Given the description of an element on the screen output the (x, y) to click on. 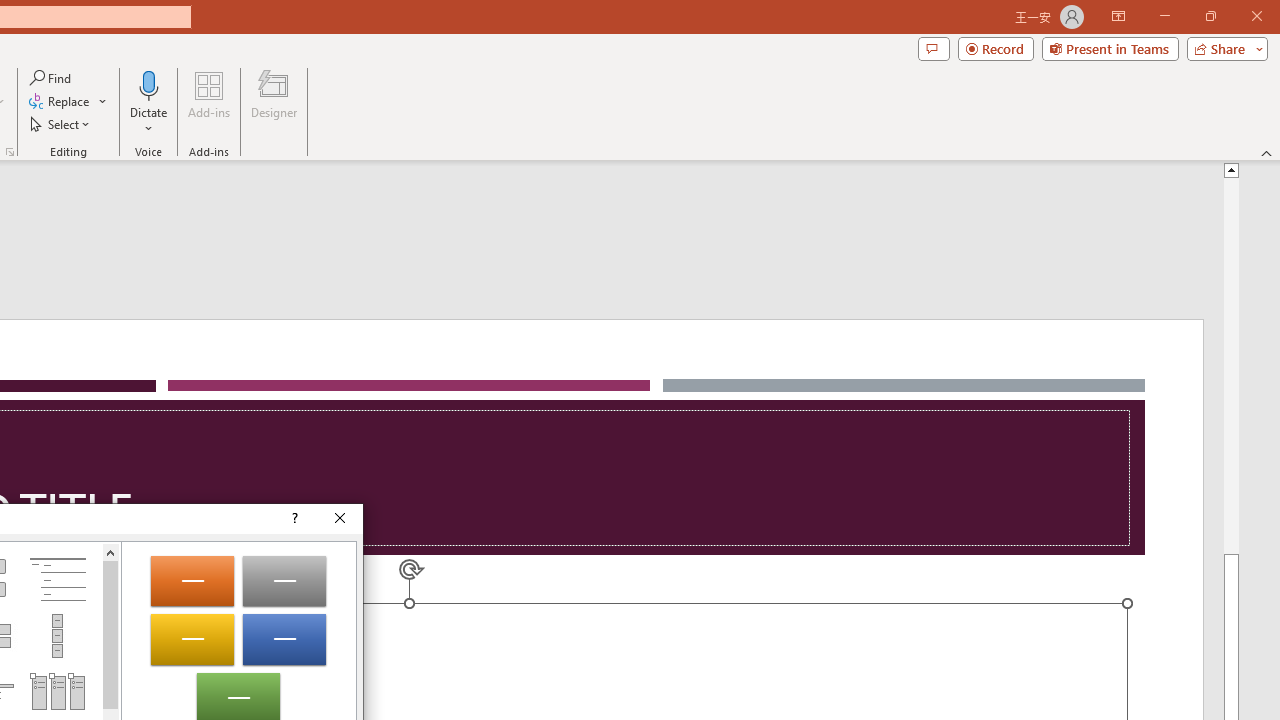
Picture Accent List (57, 691)
Line up (110, 552)
Replace... (68, 101)
Dictate (149, 84)
Replace... (60, 101)
More Options (149, 121)
Share (1223, 48)
Varying Width List (57, 635)
